Given the description of an element on the screen output the (x, y) to click on. 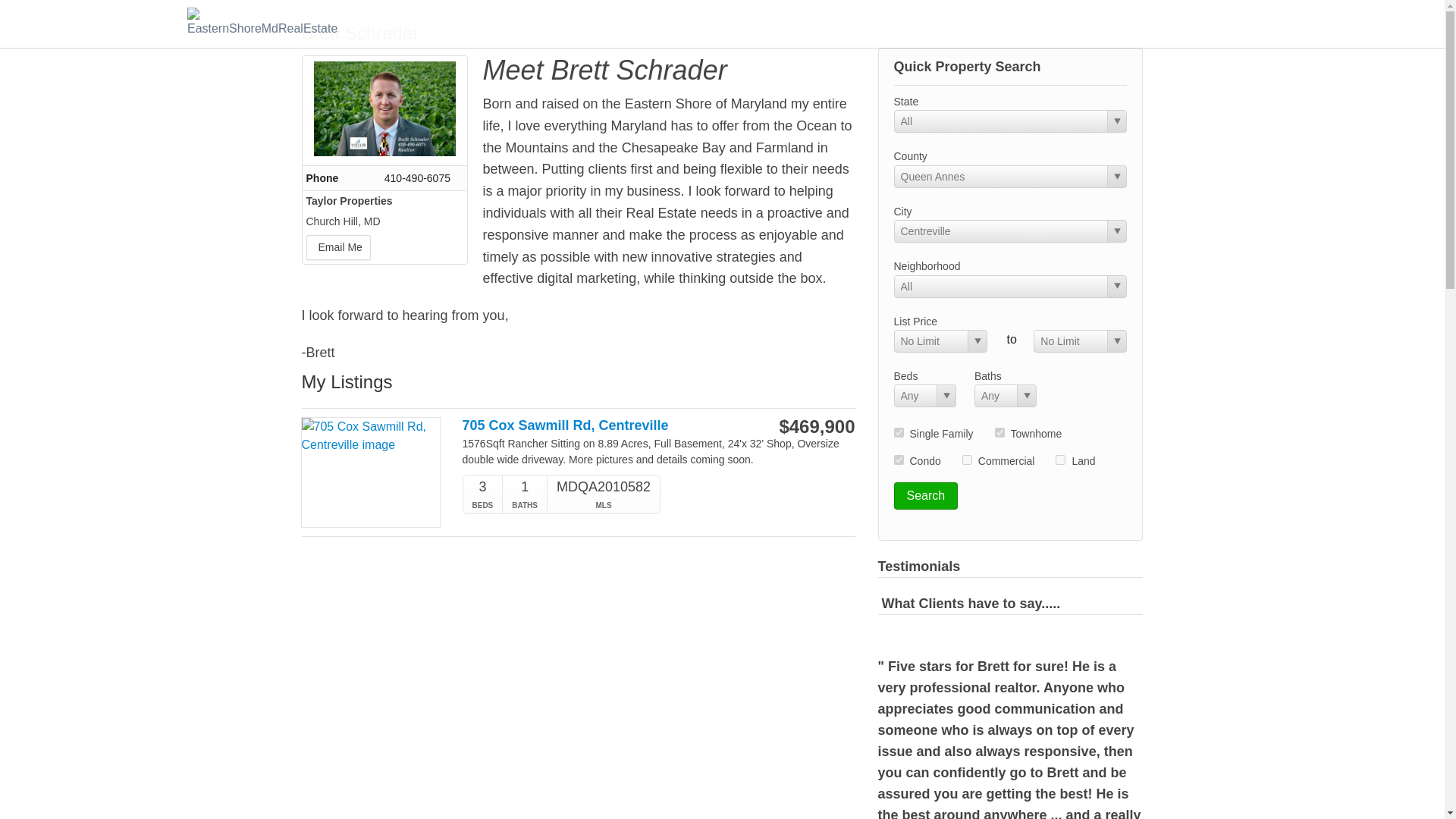
705 Cox Sawmill Rd, Centreville (600, 425)
com (967, 460)
res (897, 432)
twn (999, 432)
EasternShoreMdRealEstate.com (263, 23)
con (897, 460)
Search (925, 495)
Email Me (338, 247)
lnd (1060, 460)
